Given the description of an element on the screen output the (x, y) to click on. 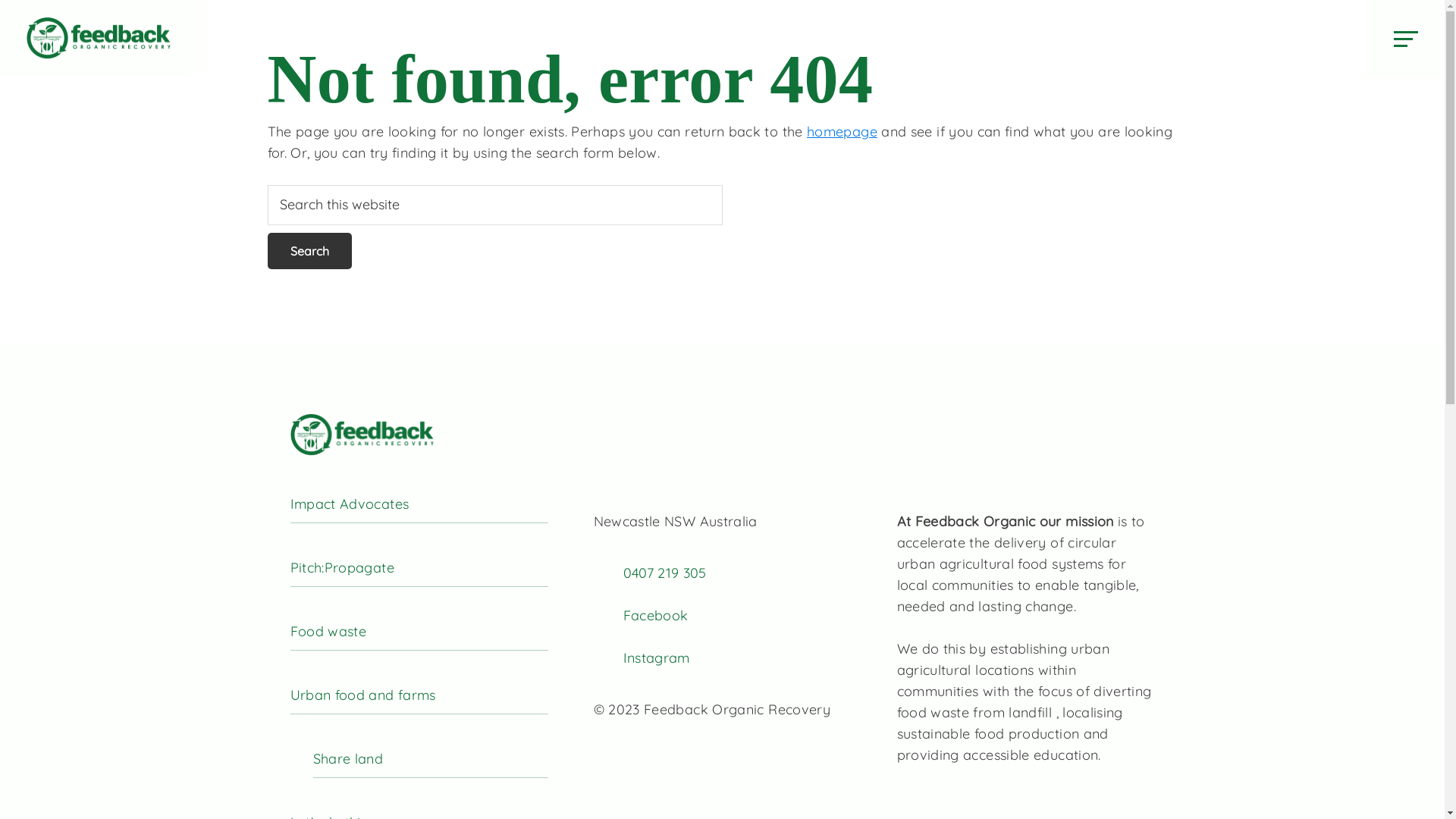
Impact Advocates Element type: text (418, 504)
0407 219 305 Element type: text (664, 572)
Food waste Element type: text (418, 631)
Urban food and farms Element type: text (418, 695)
Search Element type: text (308, 250)
Share land Element type: text (429, 759)
homepage Element type: text (841, 131)
Skip to main content Element type: text (0, 0)
Instagram Element type: text (656, 657)
Facebook Element type: text (655, 615)
Pitch:Propagate Element type: text (418, 567)
